Given the description of an element on the screen output the (x, y) to click on. 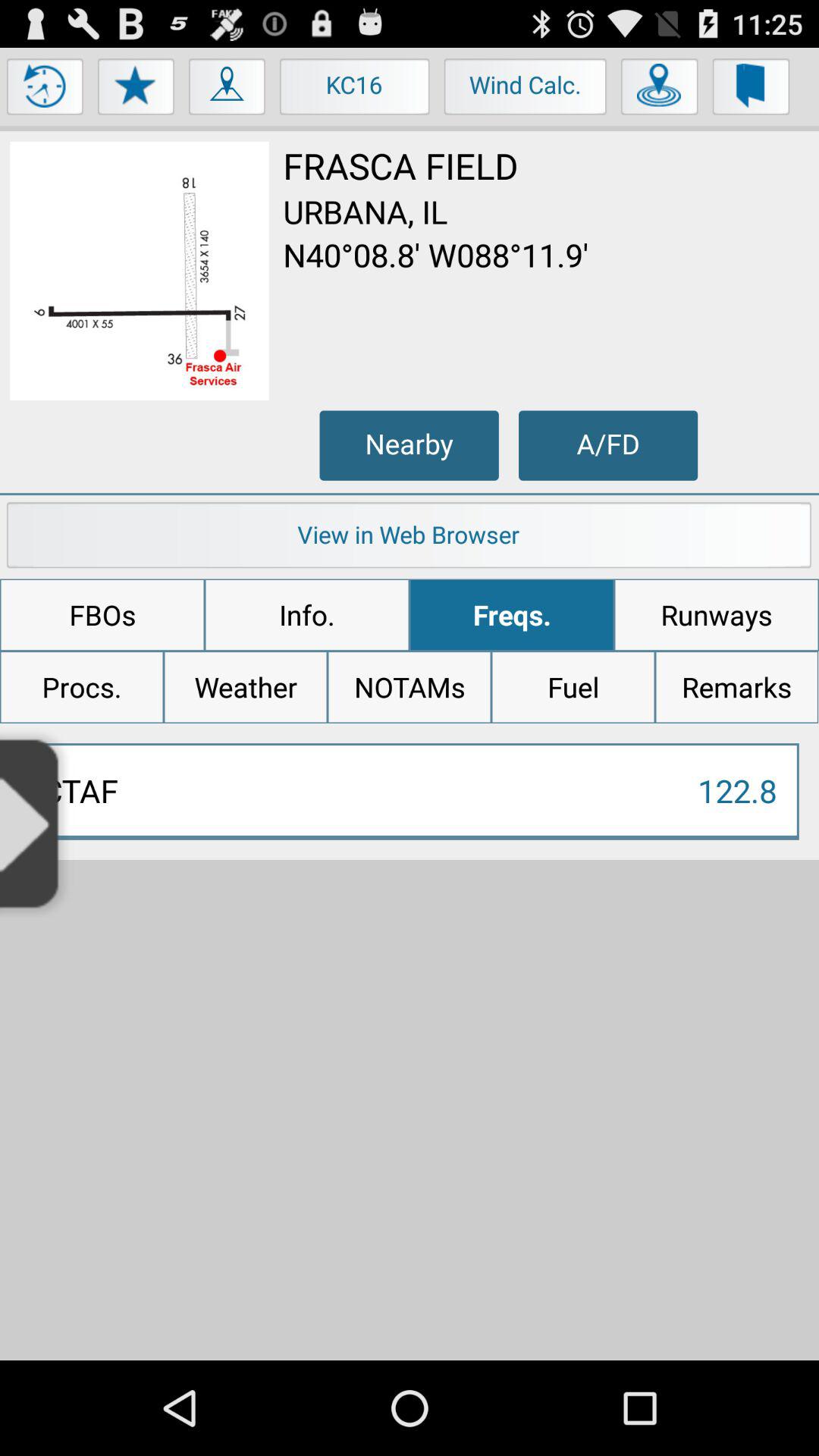
open the icon below n40 08 8 item (408, 445)
